Given the description of an element on the screen output the (x, y) to click on. 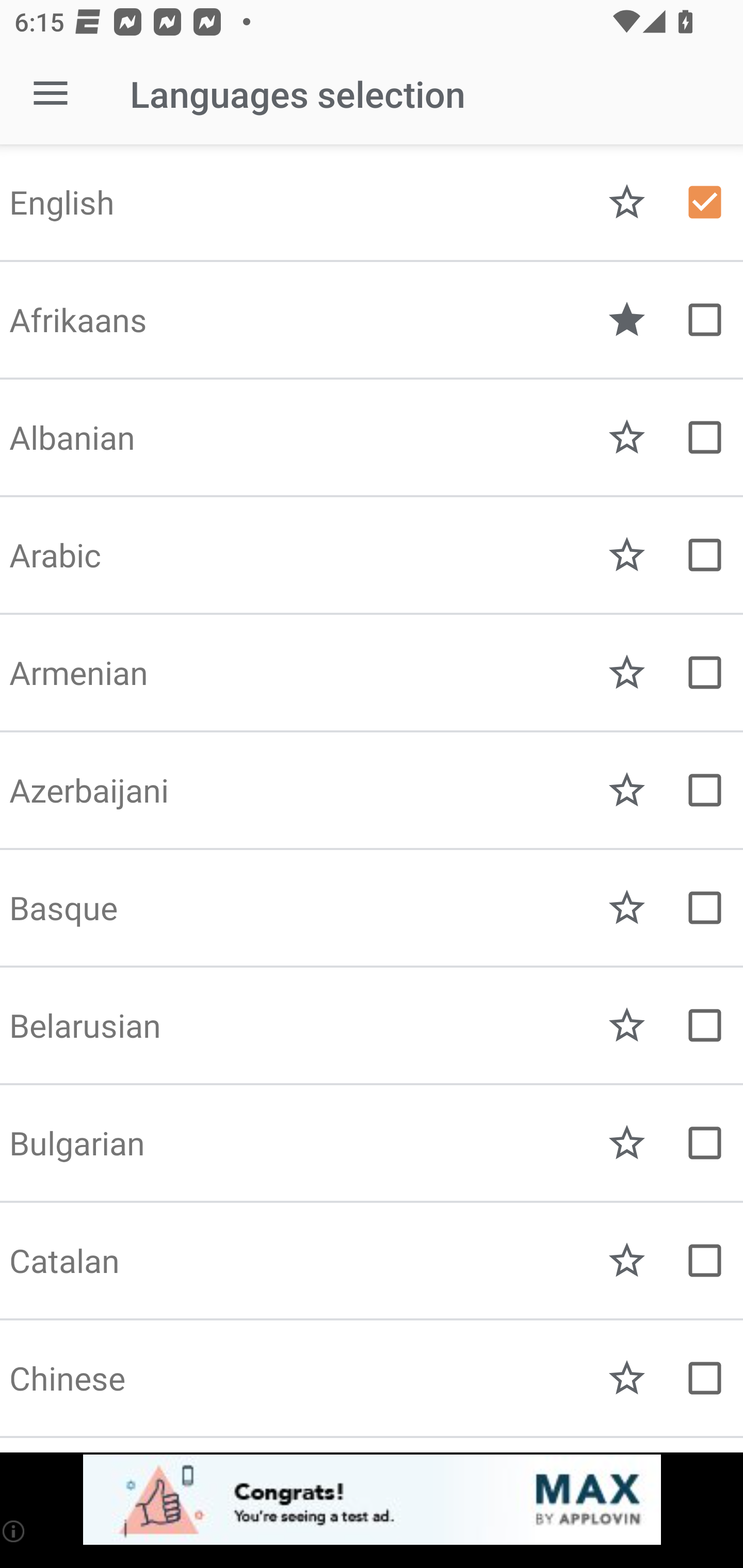
Open navigation sidebar (50, 93)
English Favorite (371, 202)
Favorite (626, 202)
Afrikaans UnFavorite (371, 319)
UnFavorite (626, 319)
Albanian Favorite (371, 437)
Favorite (626, 437)
Arabic Favorite (371, 555)
Favorite (626, 555)
Armenian Favorite (371, 672)
Favorite (626, 672)
Azerbaijani Favorite (371, 790)
Favorite (626, 790)
Basque Favorite (371, 907)
Favorite (626, 907)
Belarusian Favorite (371, 1025)
Favorite (626, 1025)
Bulgarian Favorite (371, 1143)
Favorite (626, 1143)
Catalan Favorite (371, 1260)
Favorite (626, 1260)
Chinese Favorite (371, 1378)
Favorite (626, 1378)
app-monetization (371, 1500)
(i) (14, 1531)
